Given the description of an element on the screen output the (x, y) to click on. 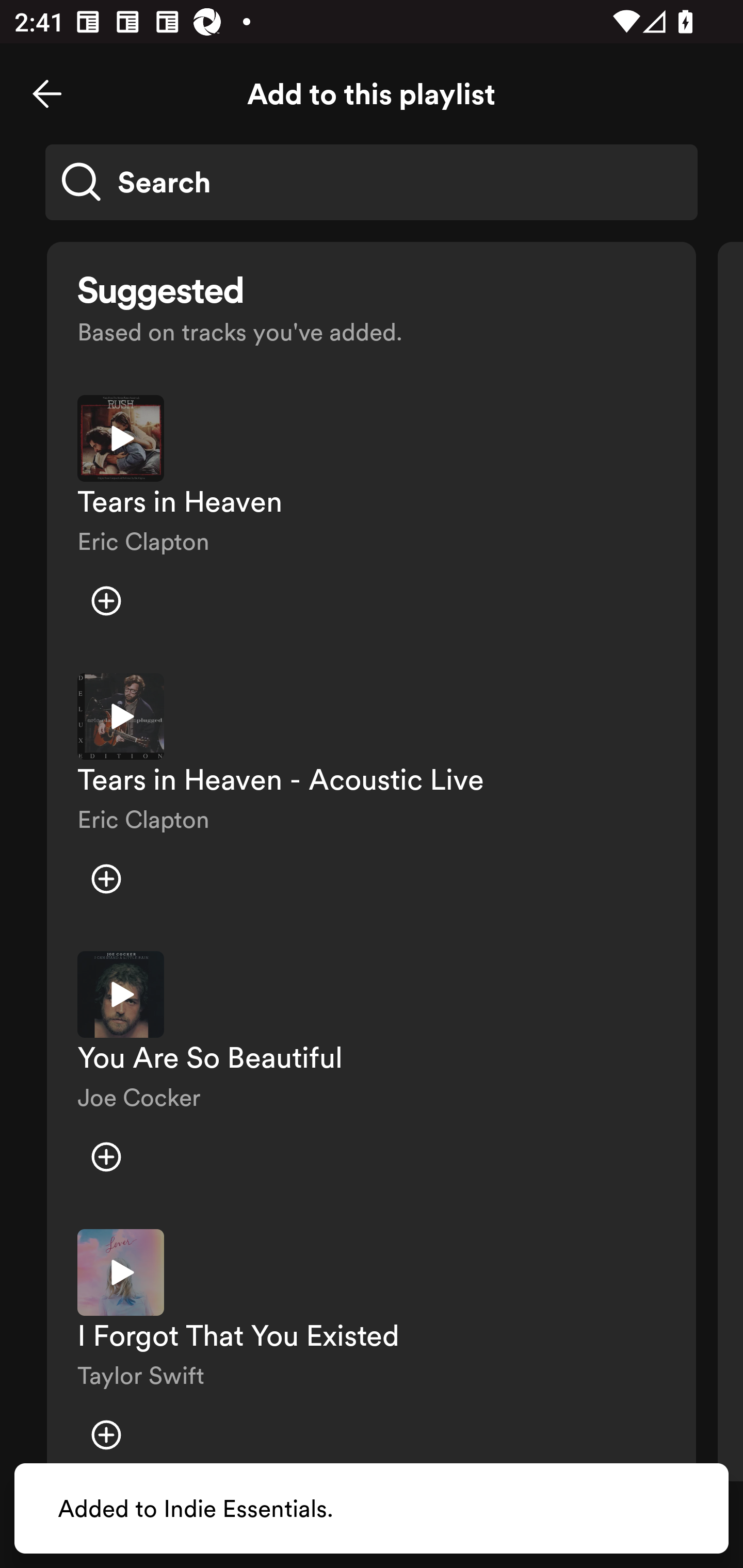
Close (46, 93)
Search (371, 181)
Play preview Tears in Heaven Eric Clapton Add item (371, 519)
Play preview (120, 438)
Add item (106, 601)
Play preview (120, 716)
Add item (106, 878)
Play preview (120, 994)
Add item (106, 1156)
Play preview (120, 1272)
Add item (106, 1435)
